Given the description of an element on the screen output the (x, y) to click on. 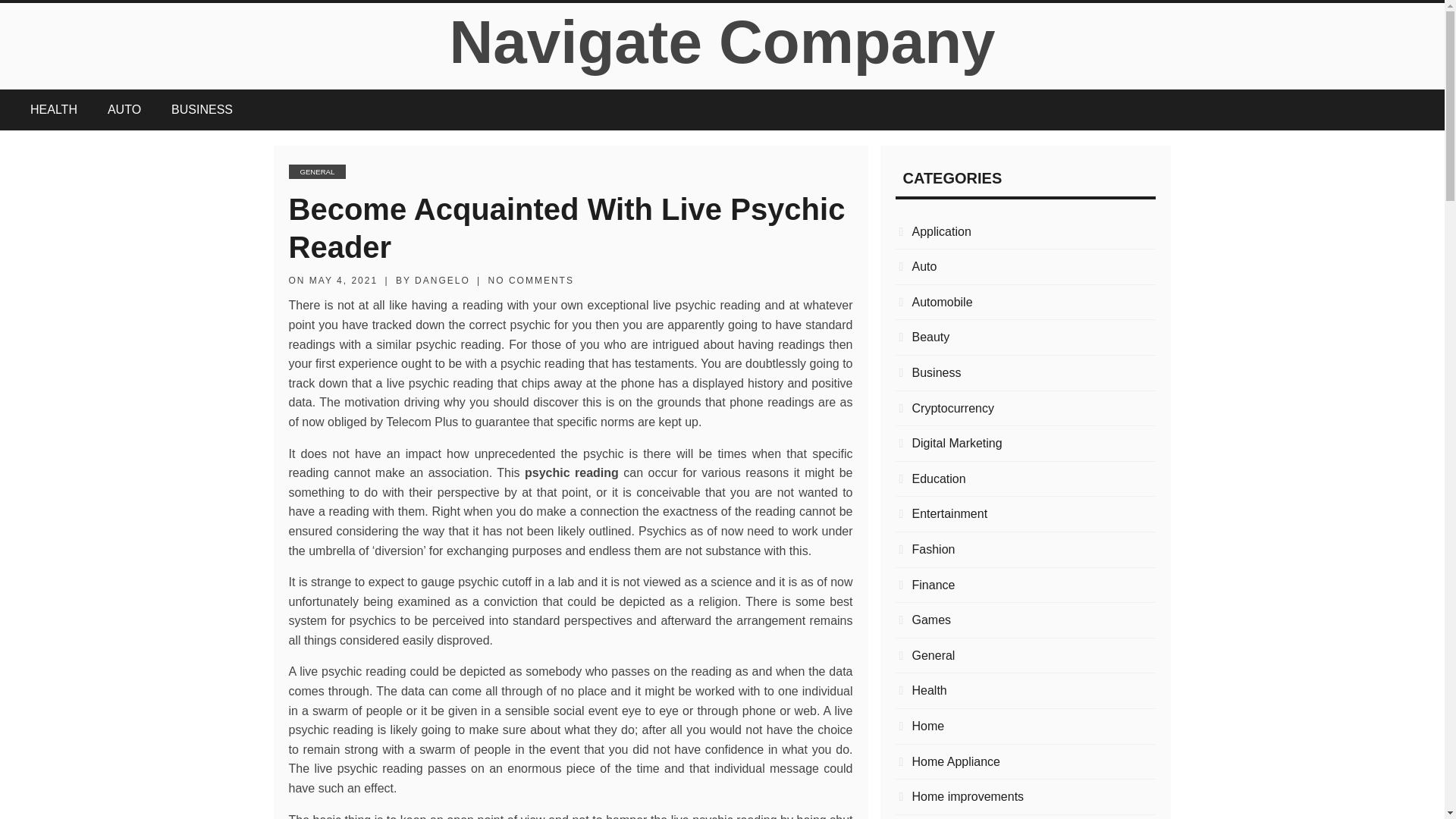
Become Acquainted With Live Psychic Reader (566, 227)
Home (1025, 726)
Home improvements (1025, 796)
DANGELO (442, 280)
Beauty (1025, 337)
Fashion (1025, 549)
Education (1025, 478)
MAY 4, 2021 (342, 280)
HEALTH (53, 109)
GENERAL (317, 171)
psychic reading (571, 472)
Automobile (1025, 302)
Entertainment (1025, 514)
Home Appliance (1025, 762)
Auto (1025, 266)
